Given the description of an element on the screen output the (x, y) to click on. 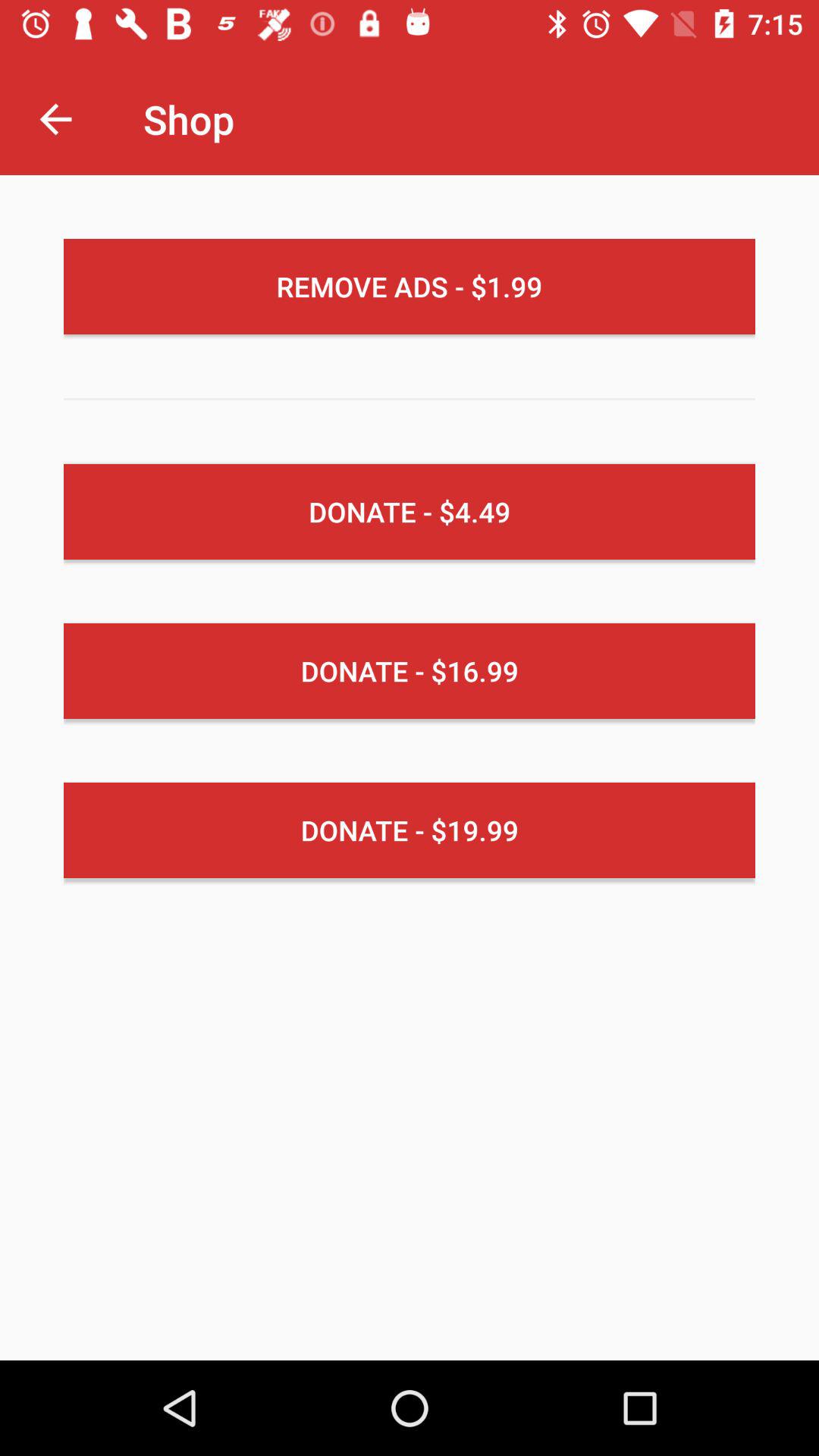
tap the icon above remove ads 1 icon (55, 119)
